Given the description of an element on the screen output the (x, y) to click on. 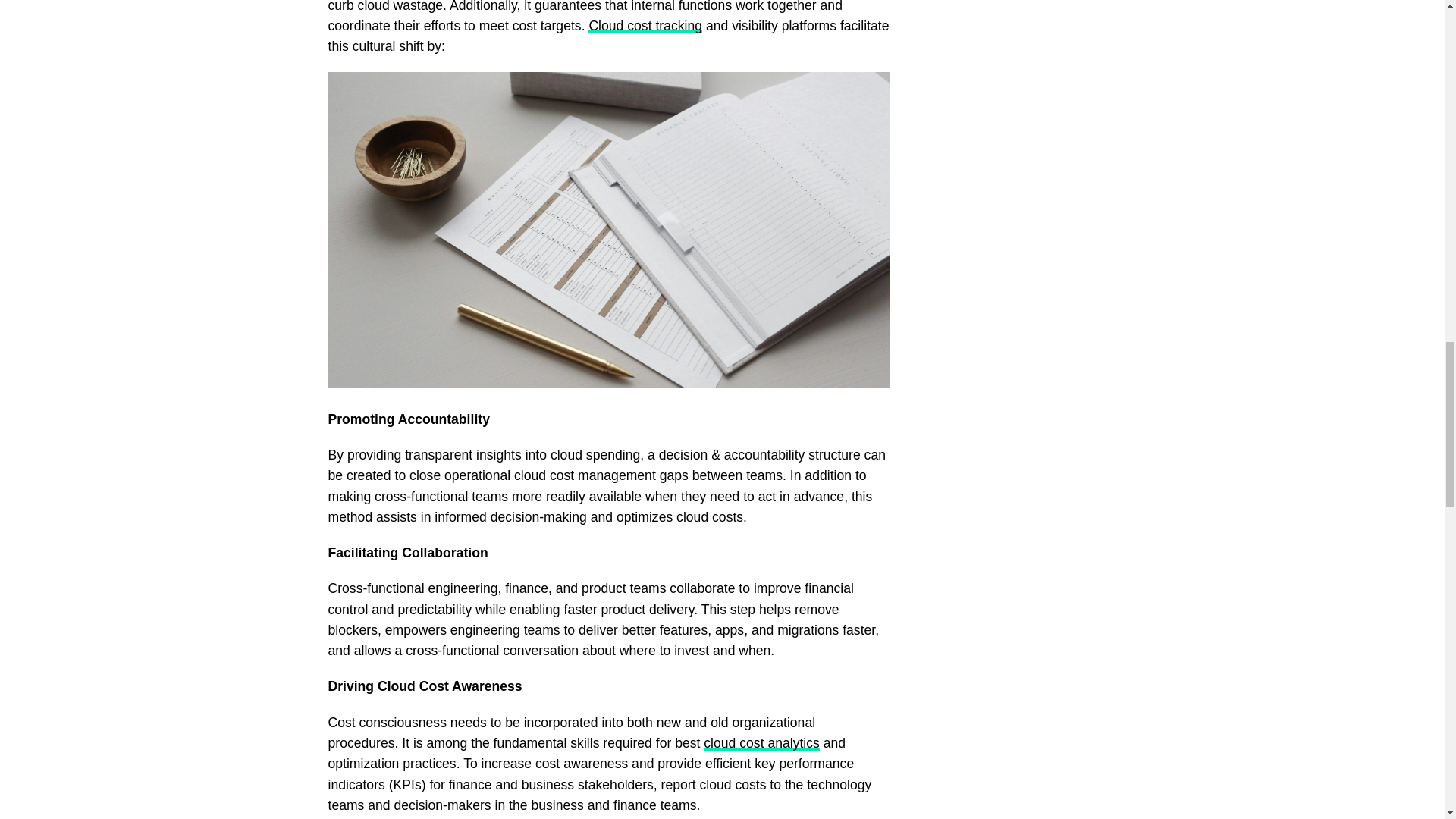
Cloud cost tracking (644, 25)
cloud cost analytics (761, 743)
